Given the description of an element on the screen output the (x, y) to click on. 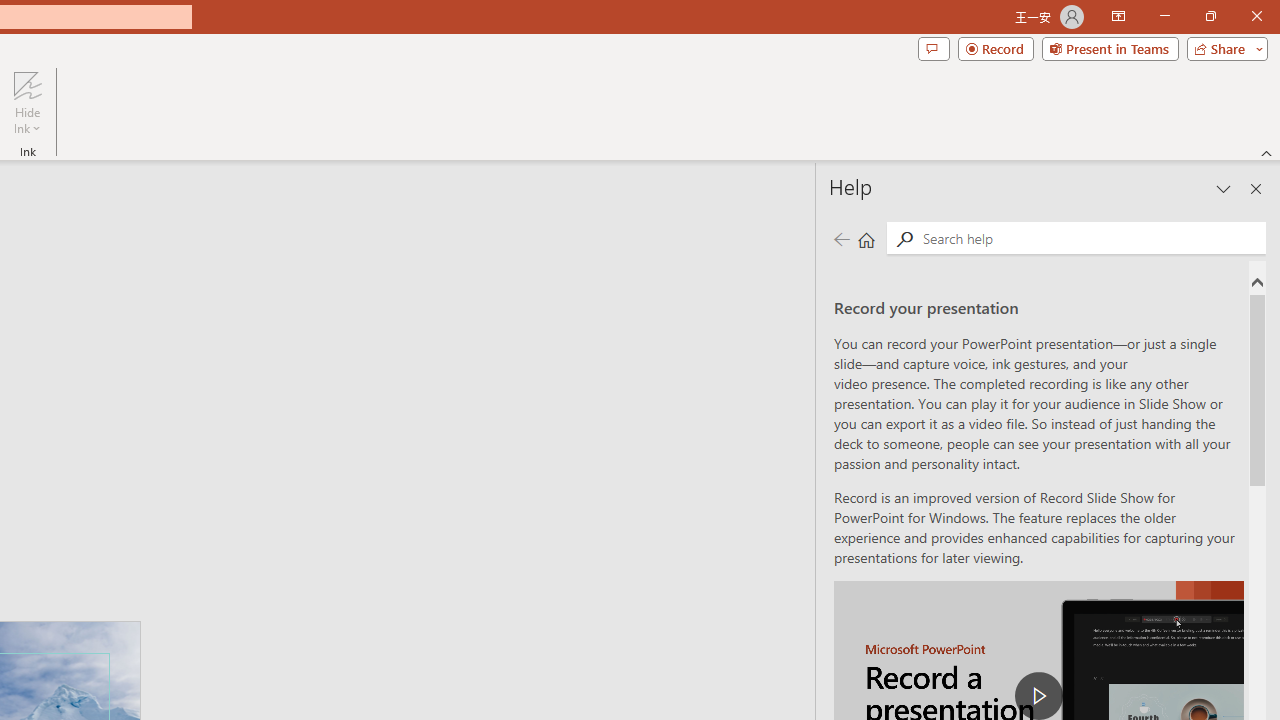
play Record a Presentation (1038, 695)
